Given the description of an element on the screen output the (x, y) to click on. 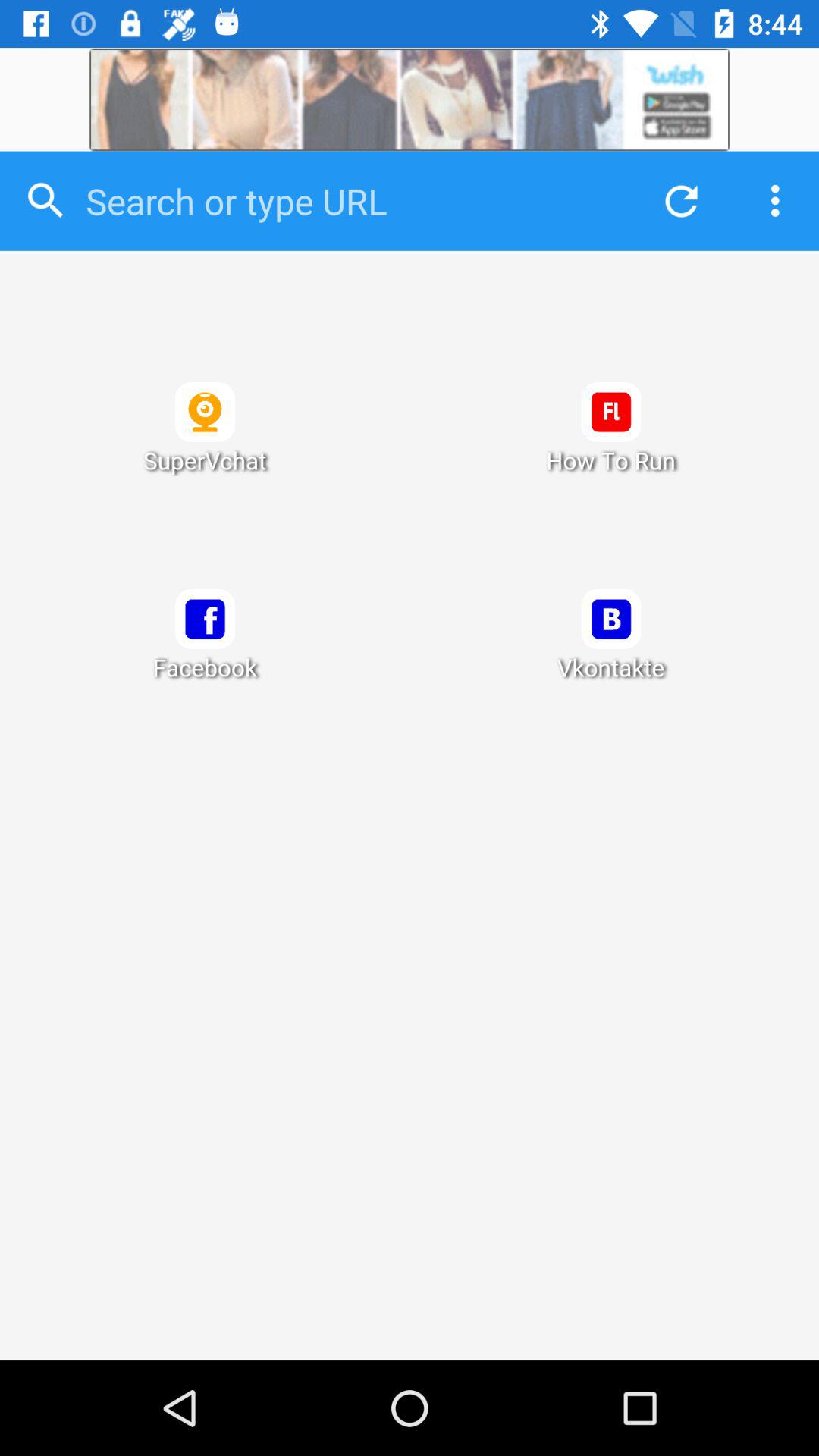
advertisements banner (409, 99)
